Given the description of an element on the screen output the (x, y) to click on. 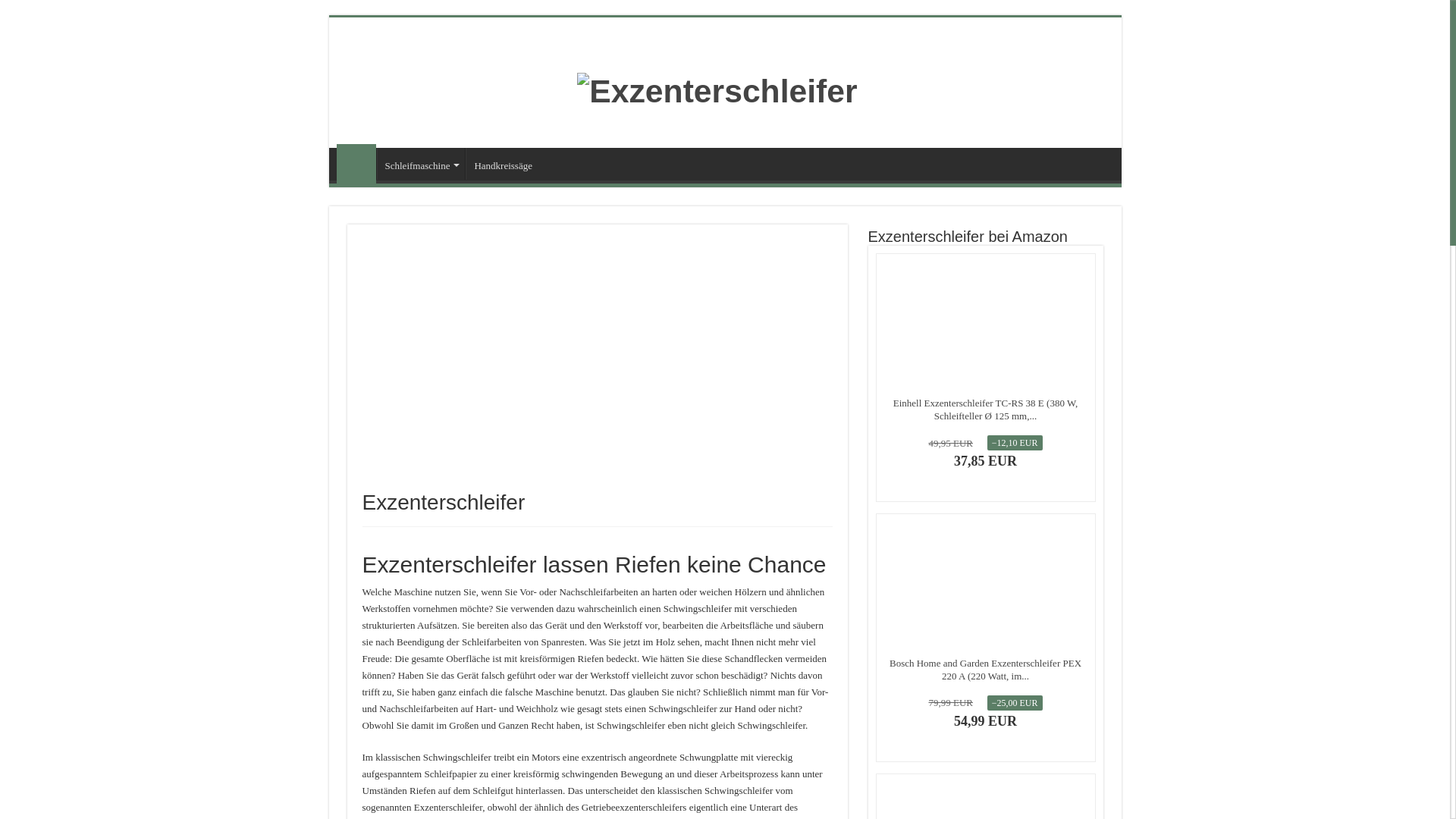
Amazon Prime Element type: hover (985, 737)
Schleifmaschine Element type: text (420, 163)
Bewertungen auf Amazon Element type: hover (985, 642)
Exzenterschleifer Element type: hover (716, 88)
Exzenterschleifer Element type: text (356, 163)
Bewertungen auf Amazon Element type: hover (985, 382)
Amazon Prime Element type: hover (985, 478)
